Given the description of an element on the screen output the (x, y) to click on. 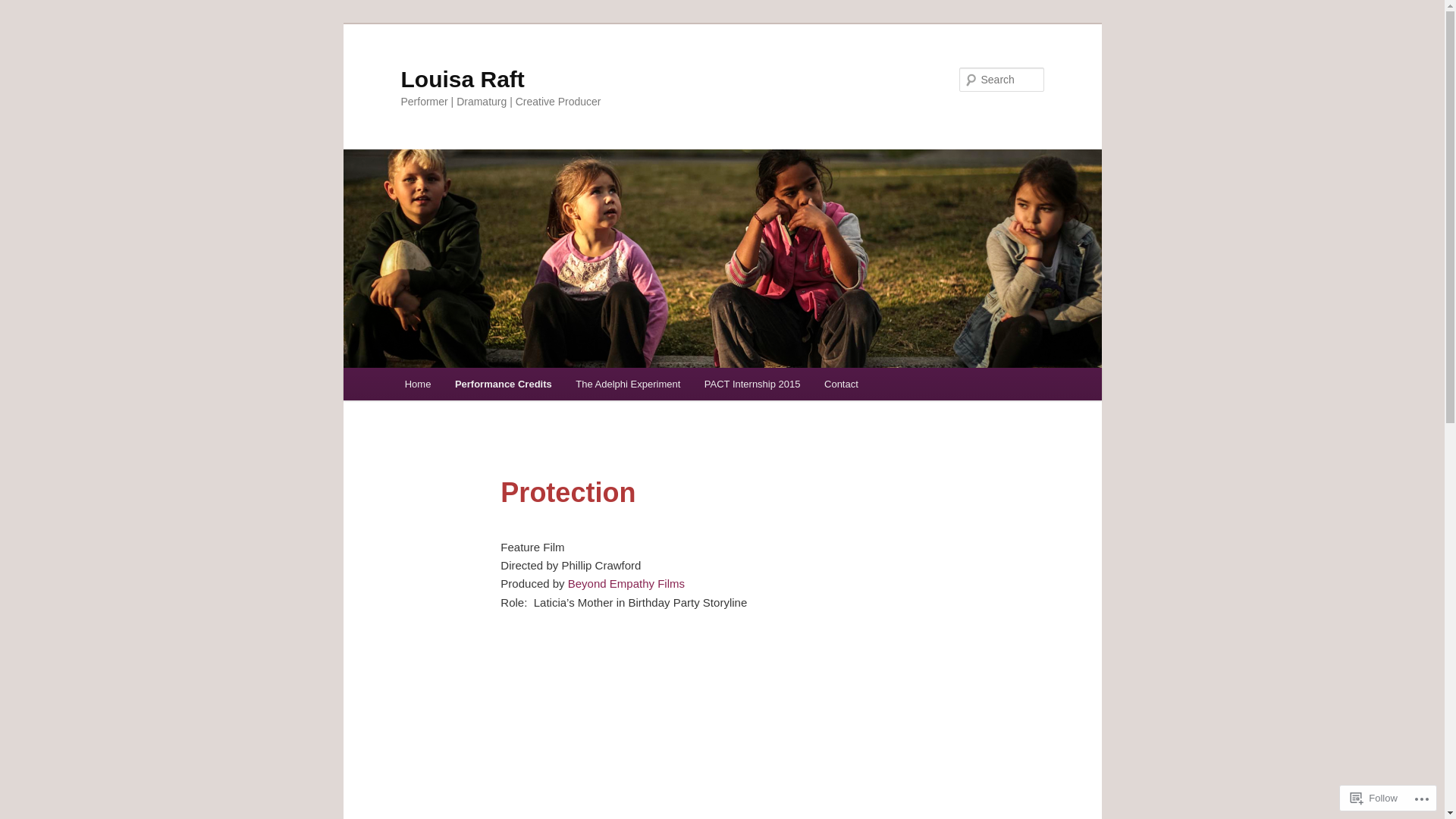
The Adelphi Experiment Element type: text (628, 383)
Performance Credits Element type: text (502, 383)
Search Element type: text (24, 8)
Beyond Empathy Films Element type: text (625, 583)
Louisa Raft Element type: text (462, 78)
Contact Element type: text (840, 383)
PACT Internship 2015 Element type: text (752, 383)
Home Element type: text (417, 383)
Follow Element type: text (1373, 797)
Skip to primary content Element type: text (22, 22)
